Given the description of an element on the screen output the (x, y) to click on. 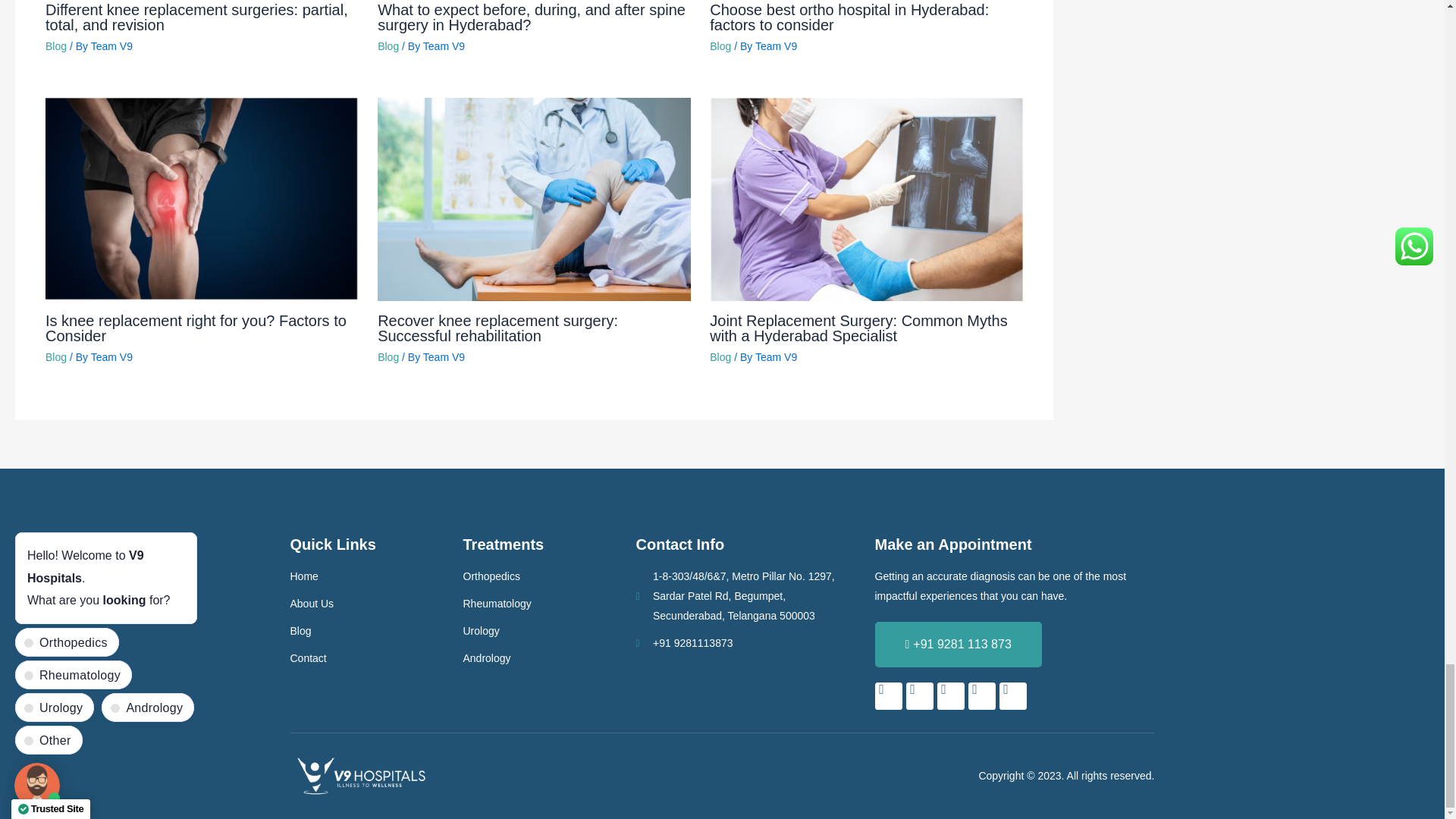
View all posts by Team V9 (775, 46)
View all posts by Team V9 (111, 357)
View all posts by Team V9 (443, 357)
View all posts by Team V9 (111, 46)
View all posts by Team V9 (443, 46)
